Given the description of an element on the screen output the (x, y) to click on. 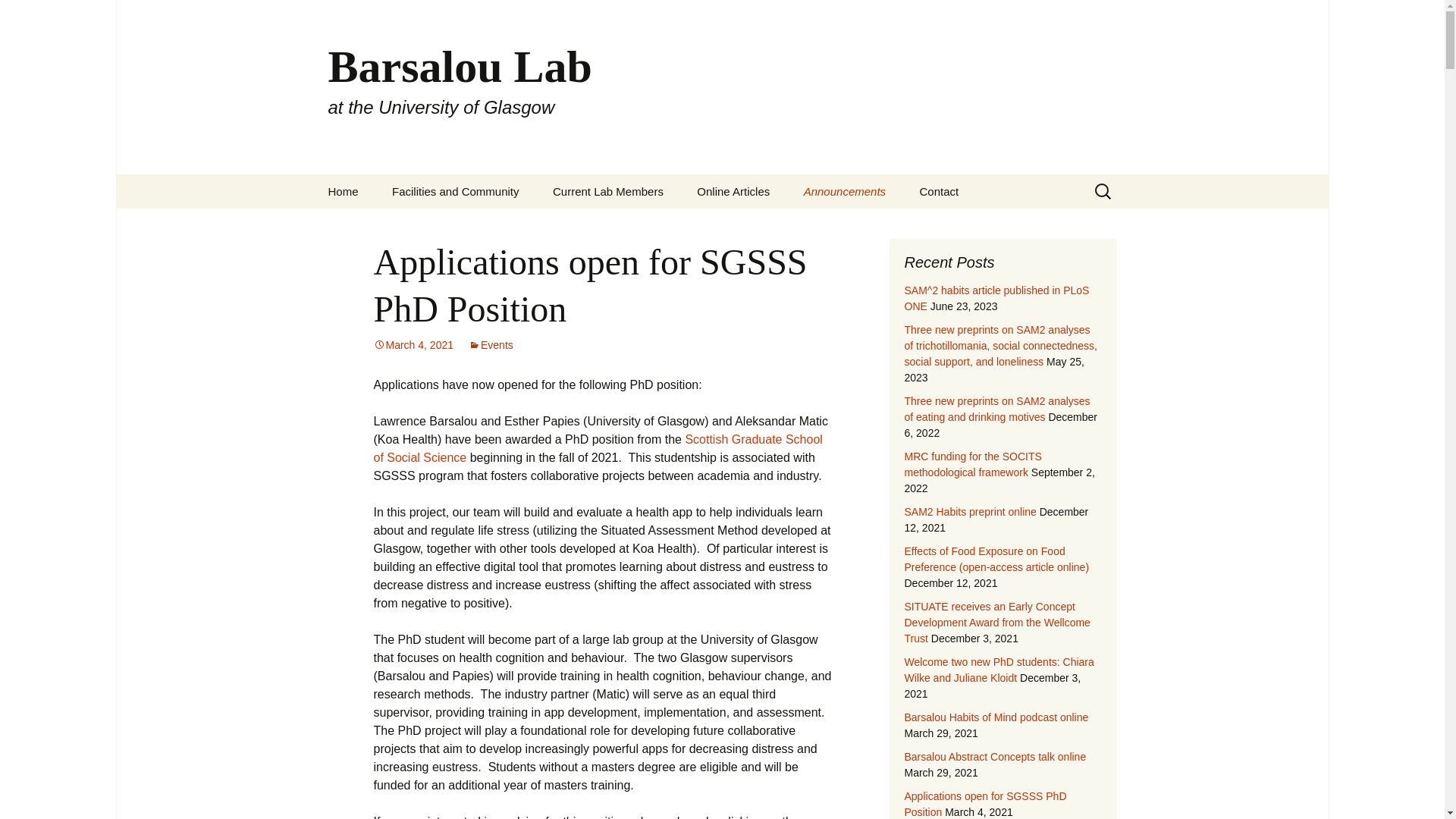
Applications open for SGSSS PhD Position (589, 285)
Facilities and Community (455, 191)
Current Lab Members (607, 191)
Announcements (845, 191)
Events (490, 345)
Permalink to Applications open for SGSSS PhD Position (412, 345)
March 4, 2021 (412, 345)
Online Articles (732, 191)
Search (18, 15)
